Given the description of an element on the screen output the (x, y) to click on. 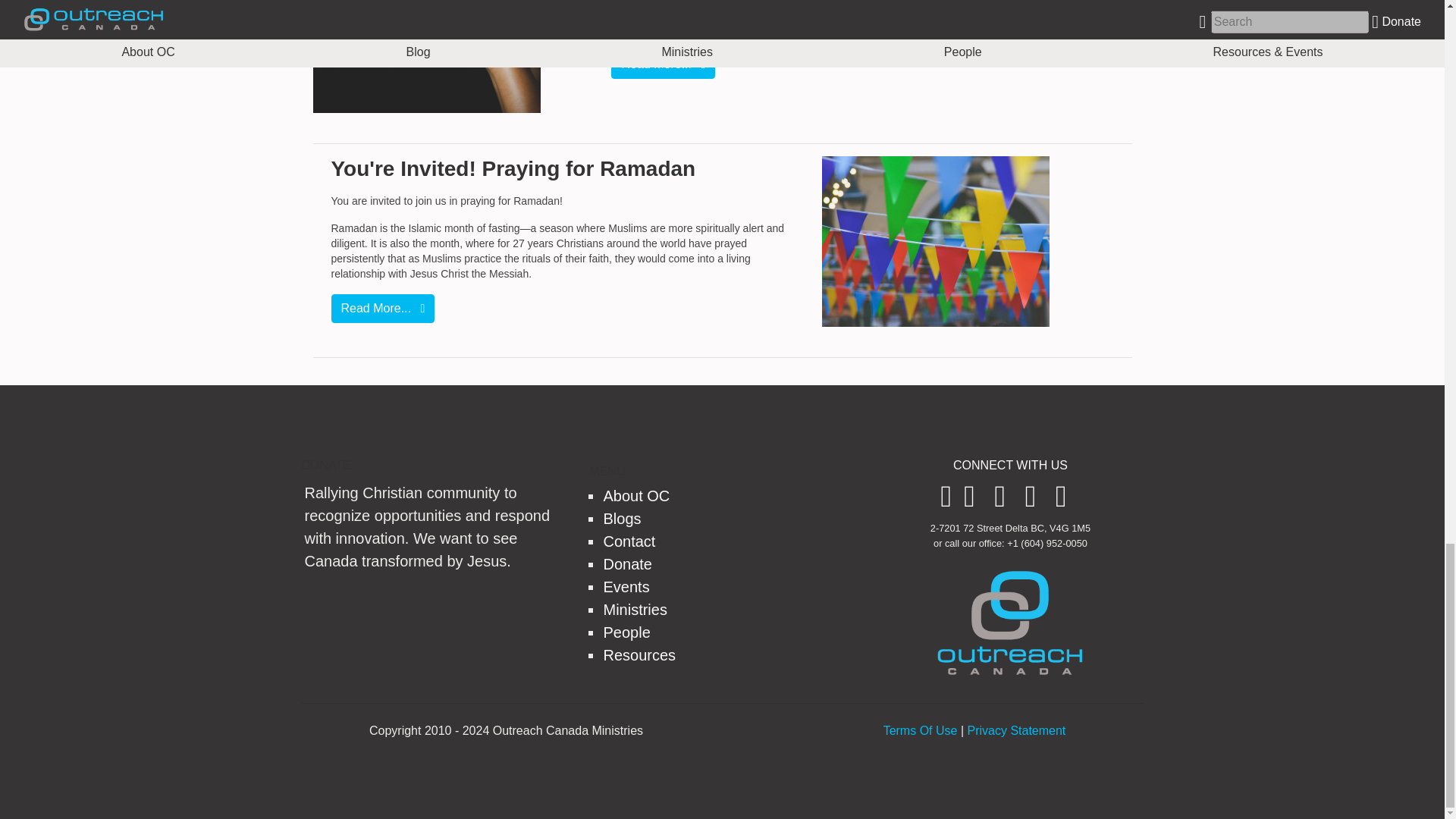
Read More... (662, 63)
Read More... (381, 308)
Blogs (621, 518)
About OC (635, 495)
